Given the description of an element on the screen output the (x, y) to click on. 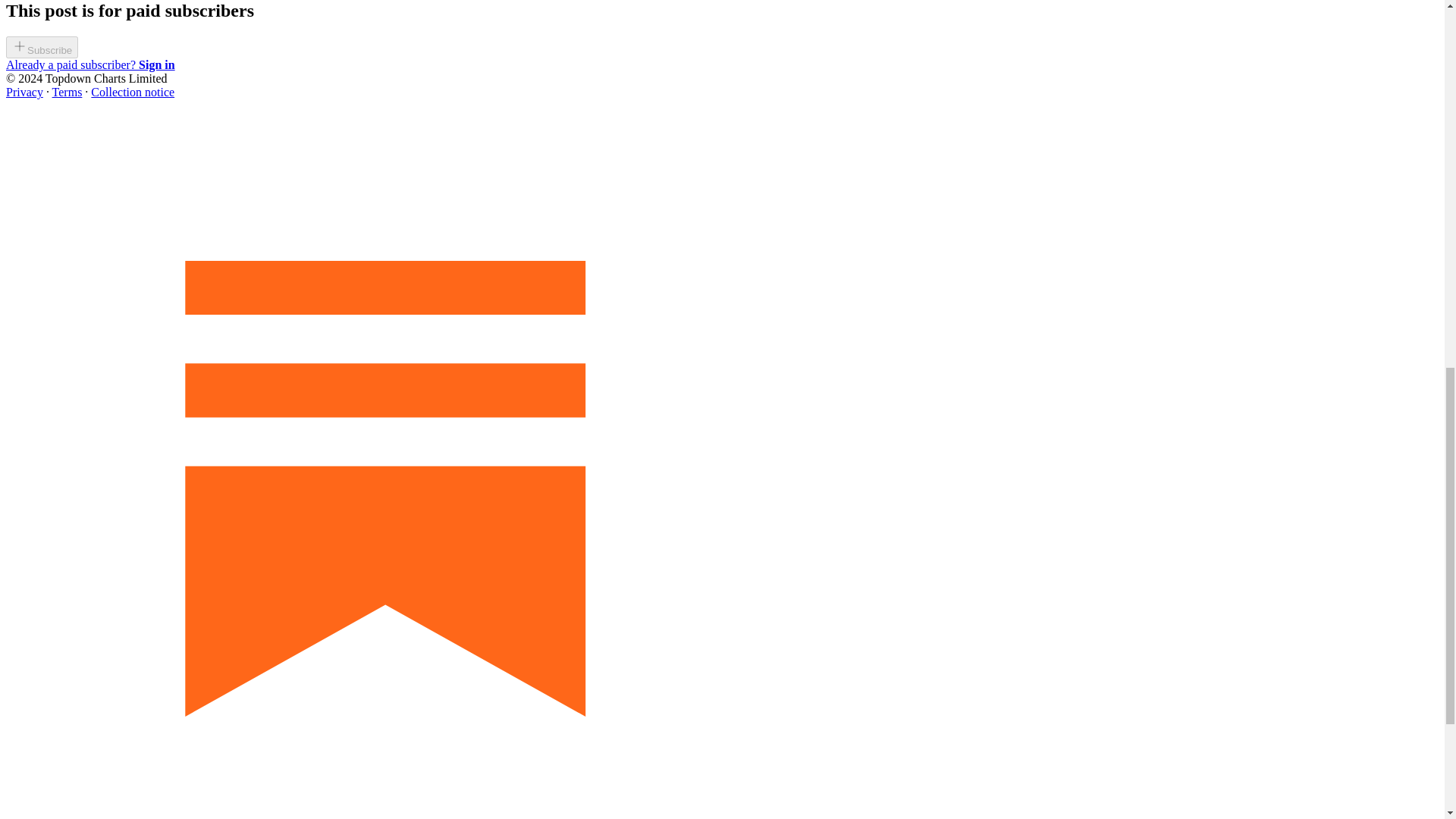
Terms (67, 91)
Privacy (24, 91)
Already a paid subscriber? Sign in (89, 64)
Subscribe (41, 47)
Collection notice (132, 91)
Subscribe (41, 49)
